Given the description of an element on the screen output the (x, y) to click on. 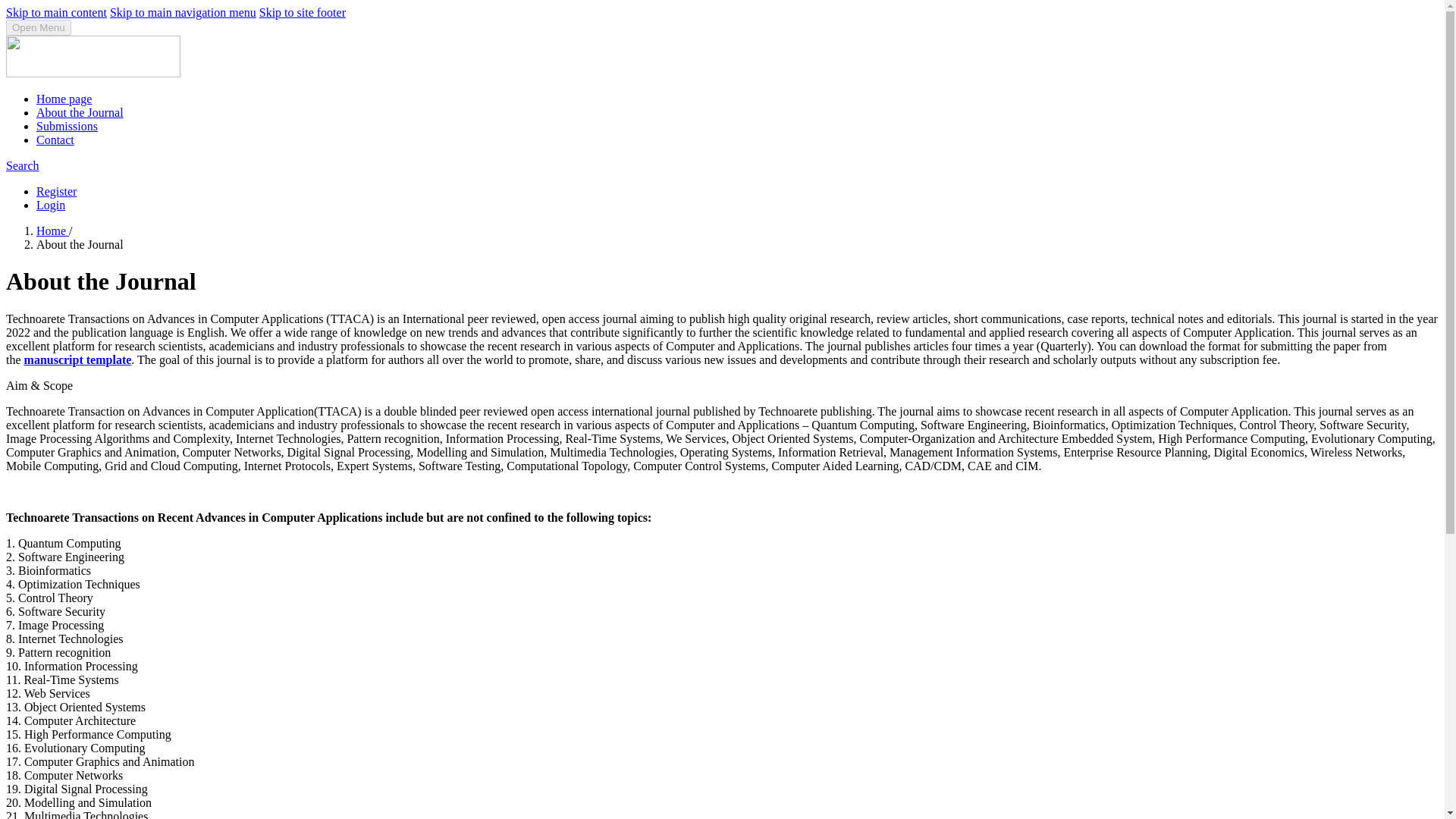
Home (52, 230)
Home page (63, 98)
Skip to main content (55, 11)
Login (50, 205)
Register (56, 191)
Contact (55, 139)
Submissions (66, 125)
Open Menu (38, 27)
About the Journal (79, 112)
Search (22, 164)
Skip to site footer (302, 11)
Skip to main navigation menu (183, 11)
manuscript template (78, 359)
